Given the description of an element on the screen output the (x, y) to click on. 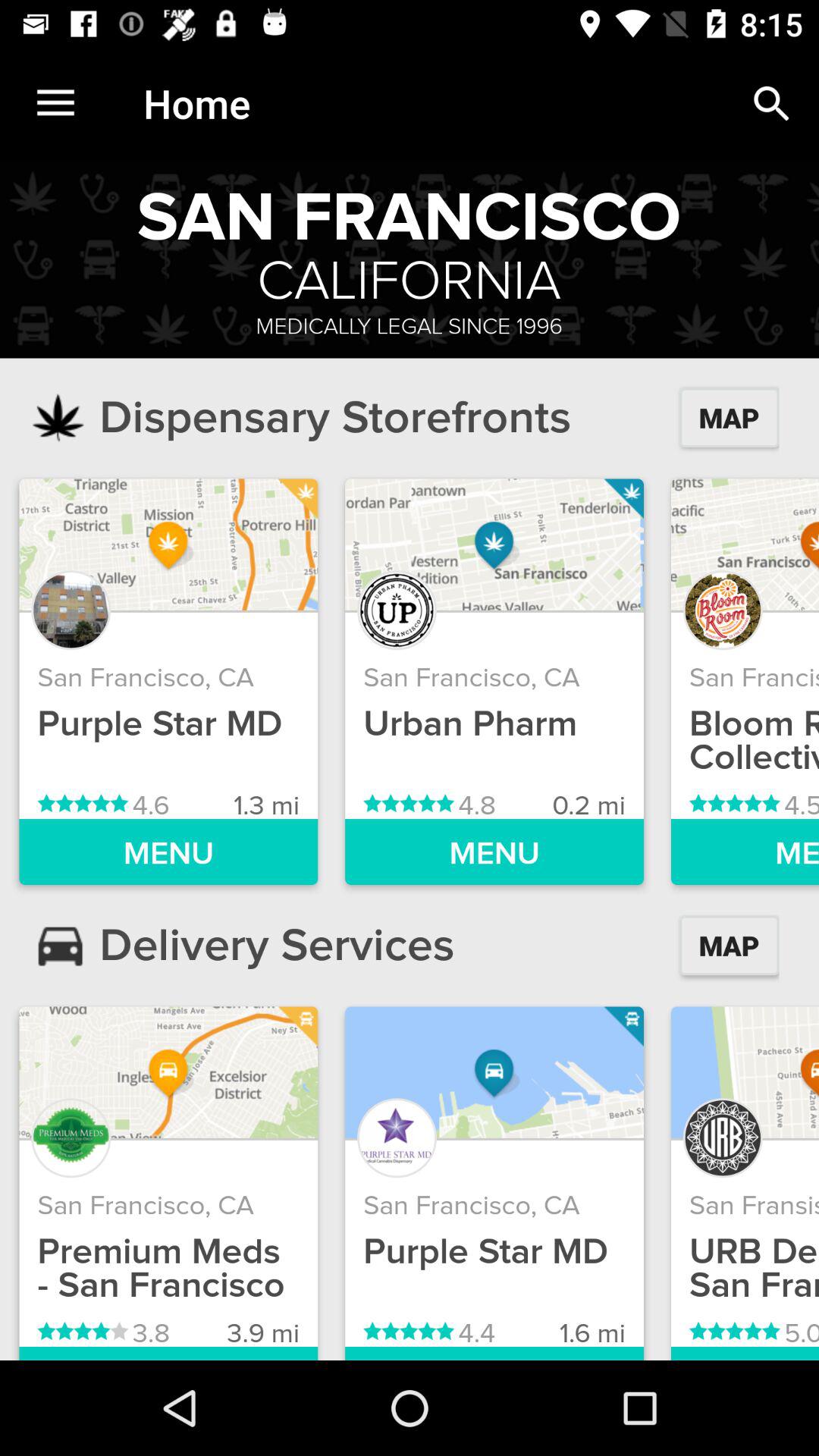
select the item to the left of the home item (55, 103)
